Given the description of an element on the screen output the (x, y) to click on. 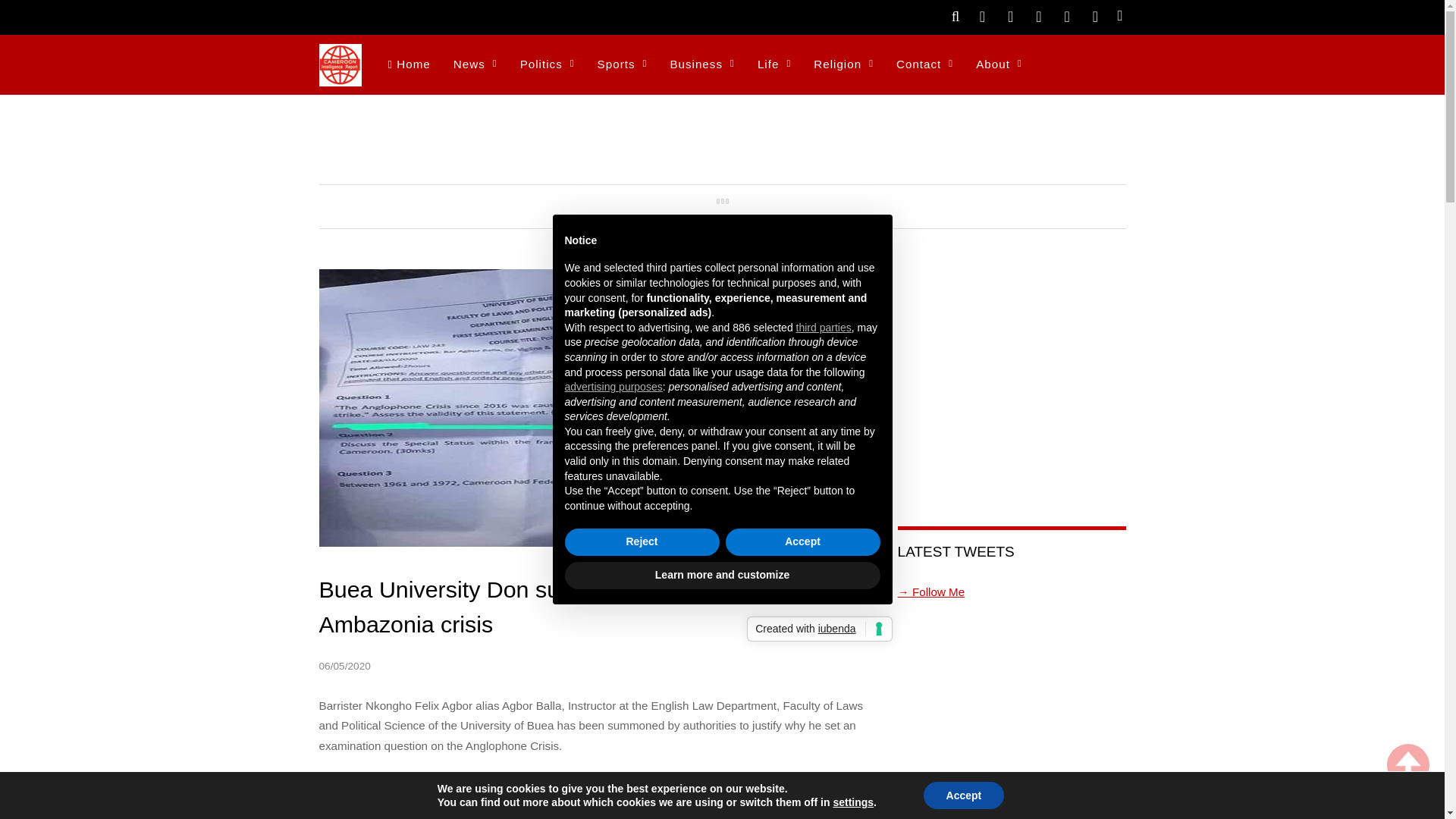
Facebook (1011, 15)
News (475, 65)
Sports (622, 65)
Politics (547, 65)
Business (701, 65)
Life (773, 65)
Contact (924, 65)
YouTube (1067, 15)
Cameroon Intelligence Report (339, 77)
